Given the description of an element on the screen output the (x, y) to click on. 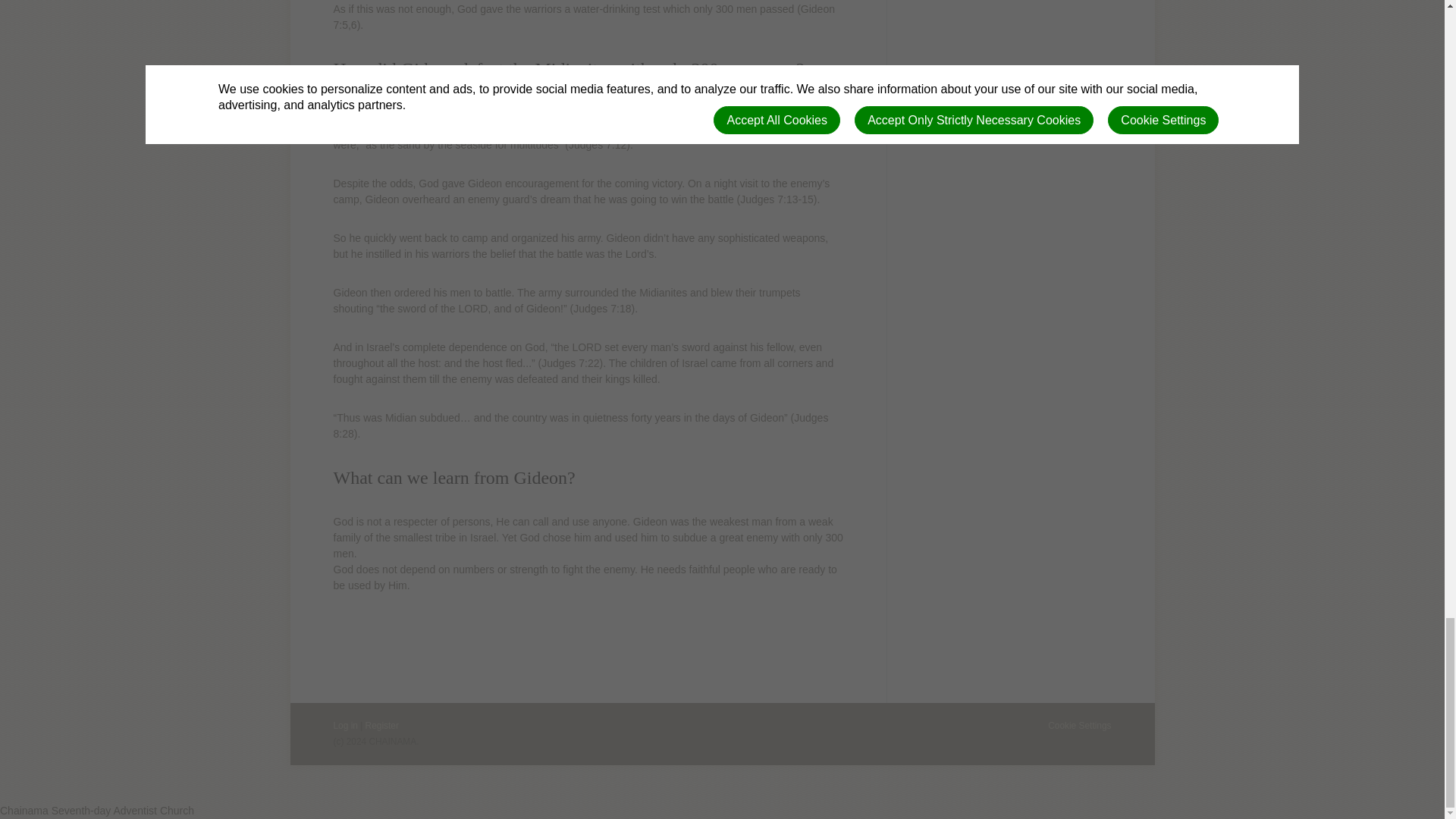
Cookie Settings (1079, 725)
Log in (345, 725)
Register (381, 725)
